Given the description of an element on the screen output the (x, y) to click on. 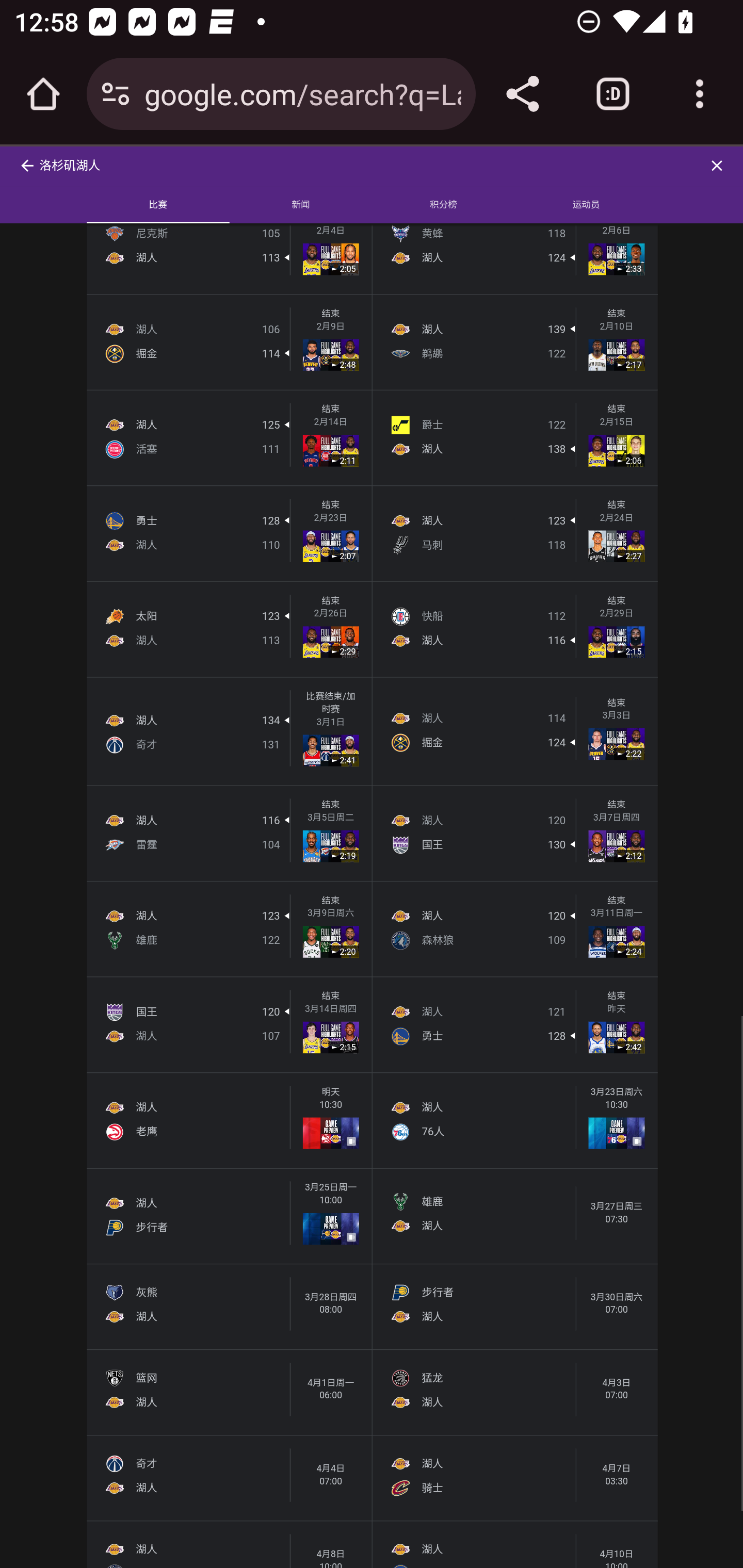
Open the home page (43, 93)
Connection is secure (115, 93)
Share (522, 93)
Switch or close tabs (612, 93)
Customize and control Google Chrome (699, 93)
关闭 (720, 165)
比赛 (157, 205)
新闻 (300, 205)
积分榜 (443, 205)
运动员 (585, 205)
4月3日 07:00 猛龙 湖人 4月3日 07:00 4月3日 07:00 猛龙 猛龙 湖人 湖人 (514, 1392)
4月4日 07:00 奇才 湖人 4月4日 07:00 4月4日 07:00 奇才 奇才 湖人 湖人 (228, 1477)
4月7日 03:30 湖人 骑士 4月7日 03:30 4月7日 03:30 湖人 湖人 骑士 骑士 (514, 1477)
